Given the description of an element on the screen output the (x, y) to click on. 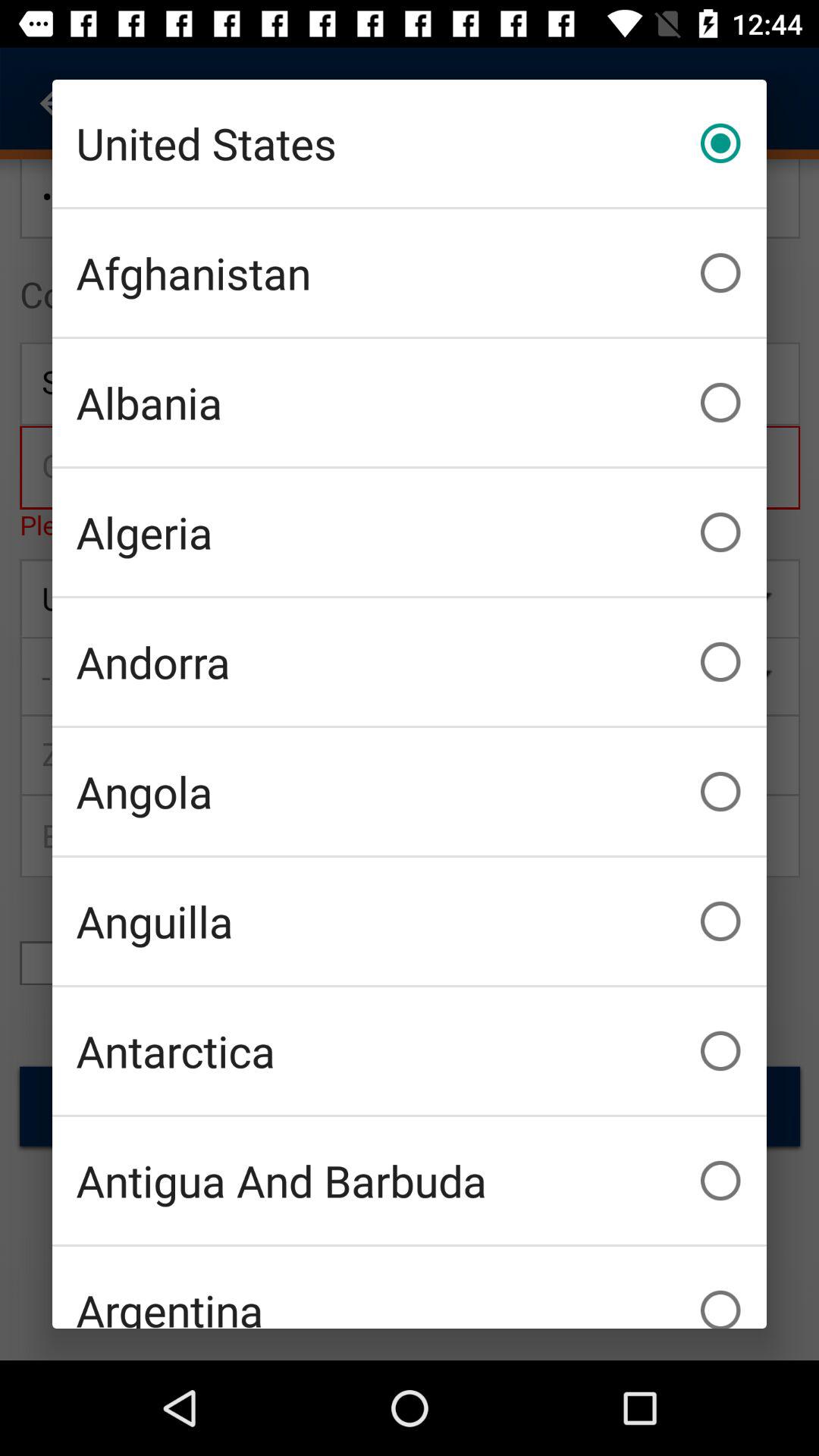
select item above the andorra icon (409, 532)
